Given the description of an element on the screen output the (x, y) to click on. 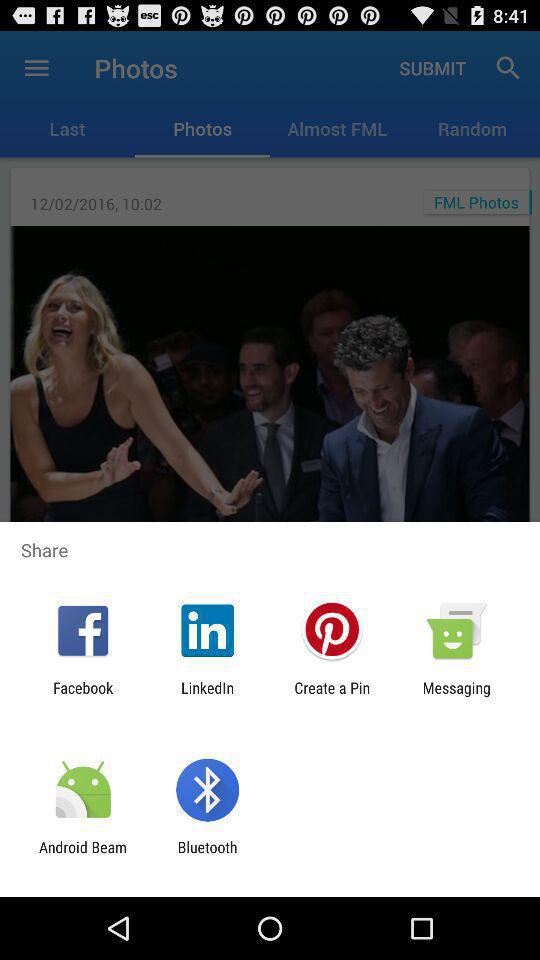
swipe until the bluetooth app (207, 856)
